Given the description of an element on the screen output the (x, y) to click on. 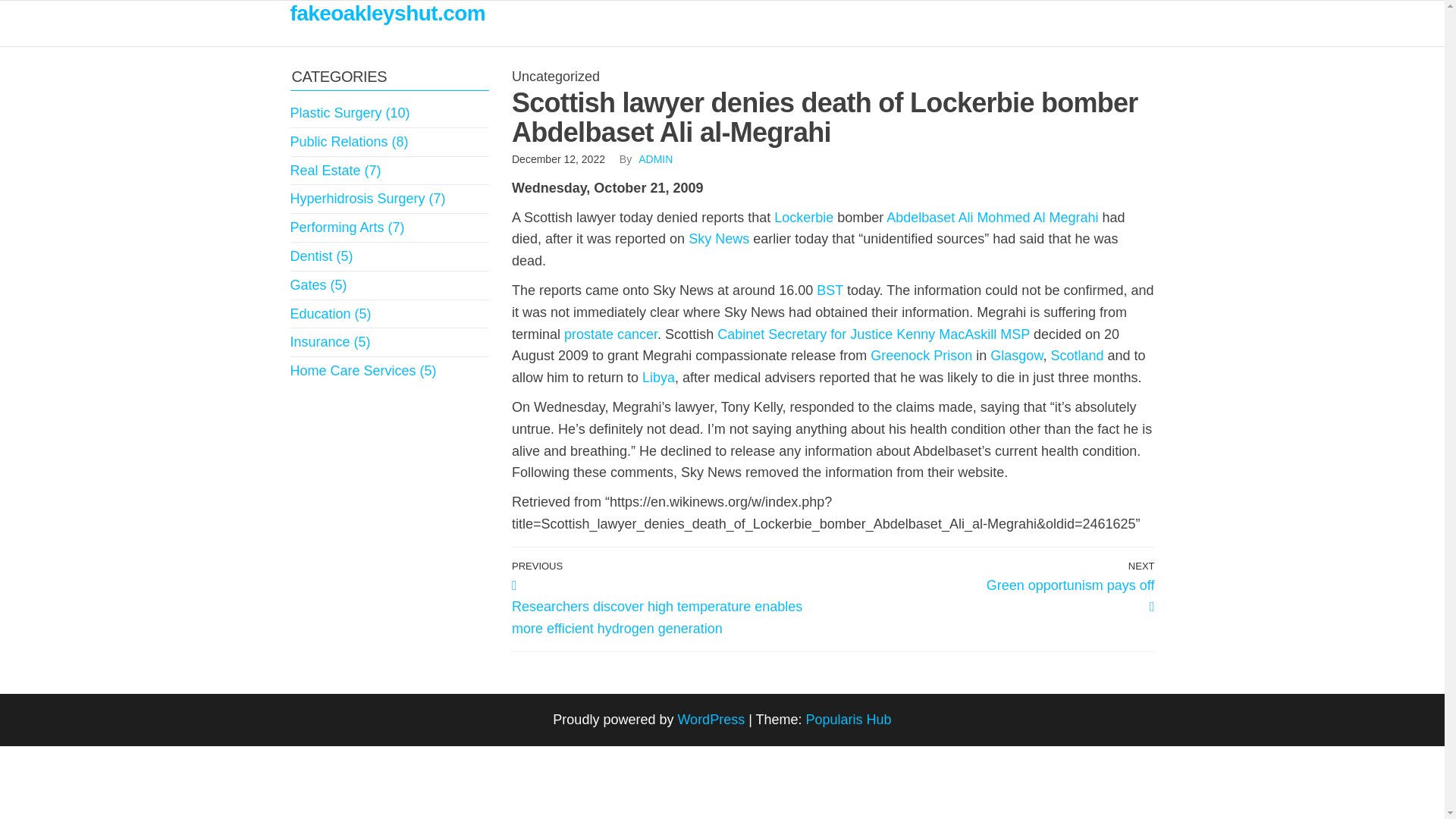
Sky News (718, 238)
ADMIN (655, 159)
Abdelbaset Ali Mohmed Al Megrahi (991, 217)
WordPress (710, 719)
Popularis Hub (848, 719)
Greenock Prison (921, 355)
BST (829, 290)
Kenny MacAskill (945, 334)
fakeoakleyshut.com (386, 13)
